Given the description of an element on the screen output the (x, y) to click on. 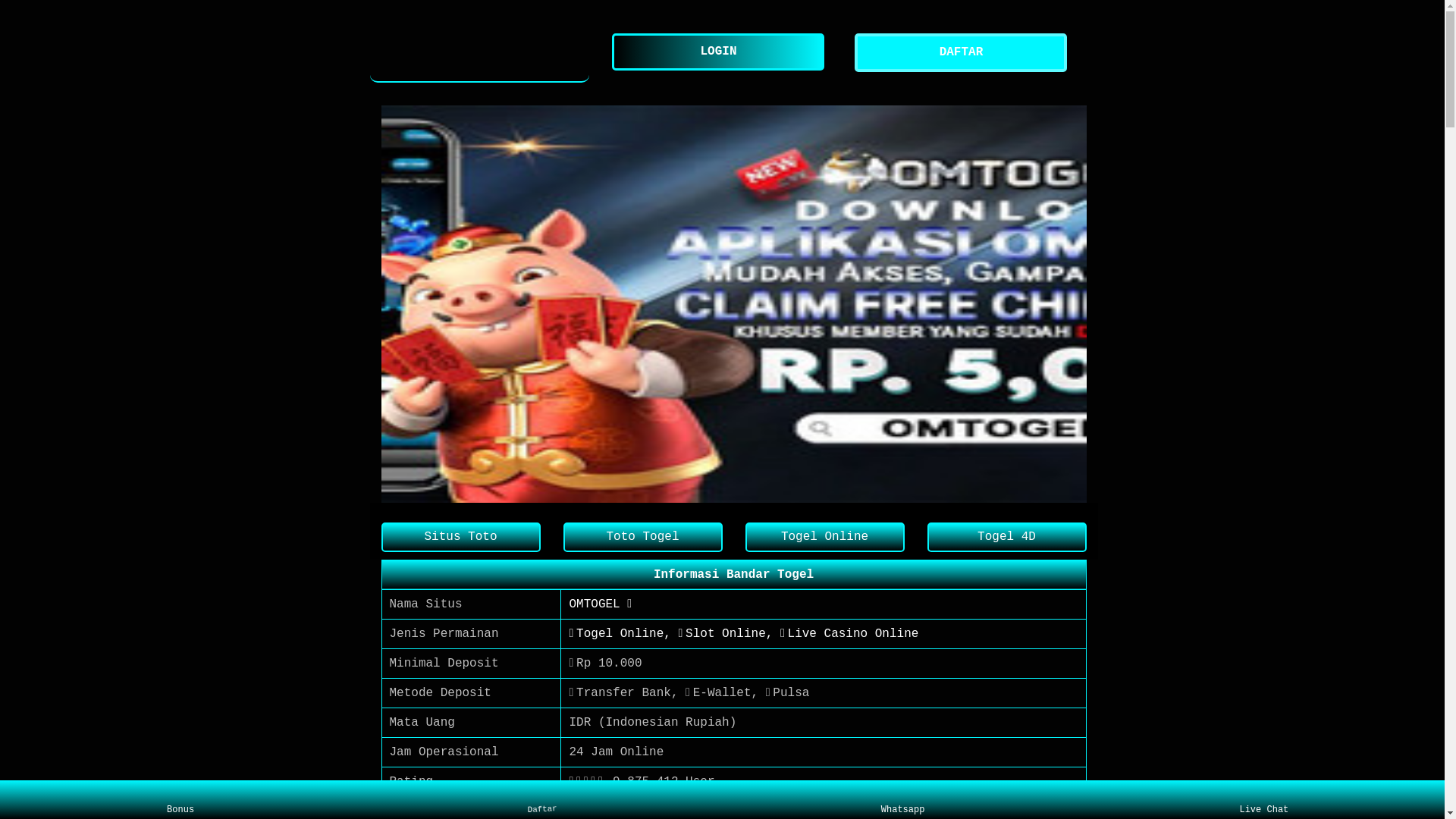
DAFTAR Element type: text (964, 52)
KLIK DISINI Element type: text (608, 811)
Next item in carousel (1 of 1) Element type: hover (1073, 303)
Whatsapp Element type: text (902, 799)
Bonus Element type: text (180, 799)
Togel 4D Element type: text (1005, 537)
Daftar Element type: text (538, 797)
LOGIN Element type: text (721, 51)
OMTOGEL Element type: hover (479, 52)
Situs Toto Element type: text (459, 537)
Togel Online Element type: text (823, 537)
Live Chat Element type: text (1263, 799)
Toto Togel Element type: text (641, 537)
Previous item in carousel (1 of 1) Element type: hover (392, 303)
